Given the description of an element on the screen output the (x, y) to click on. 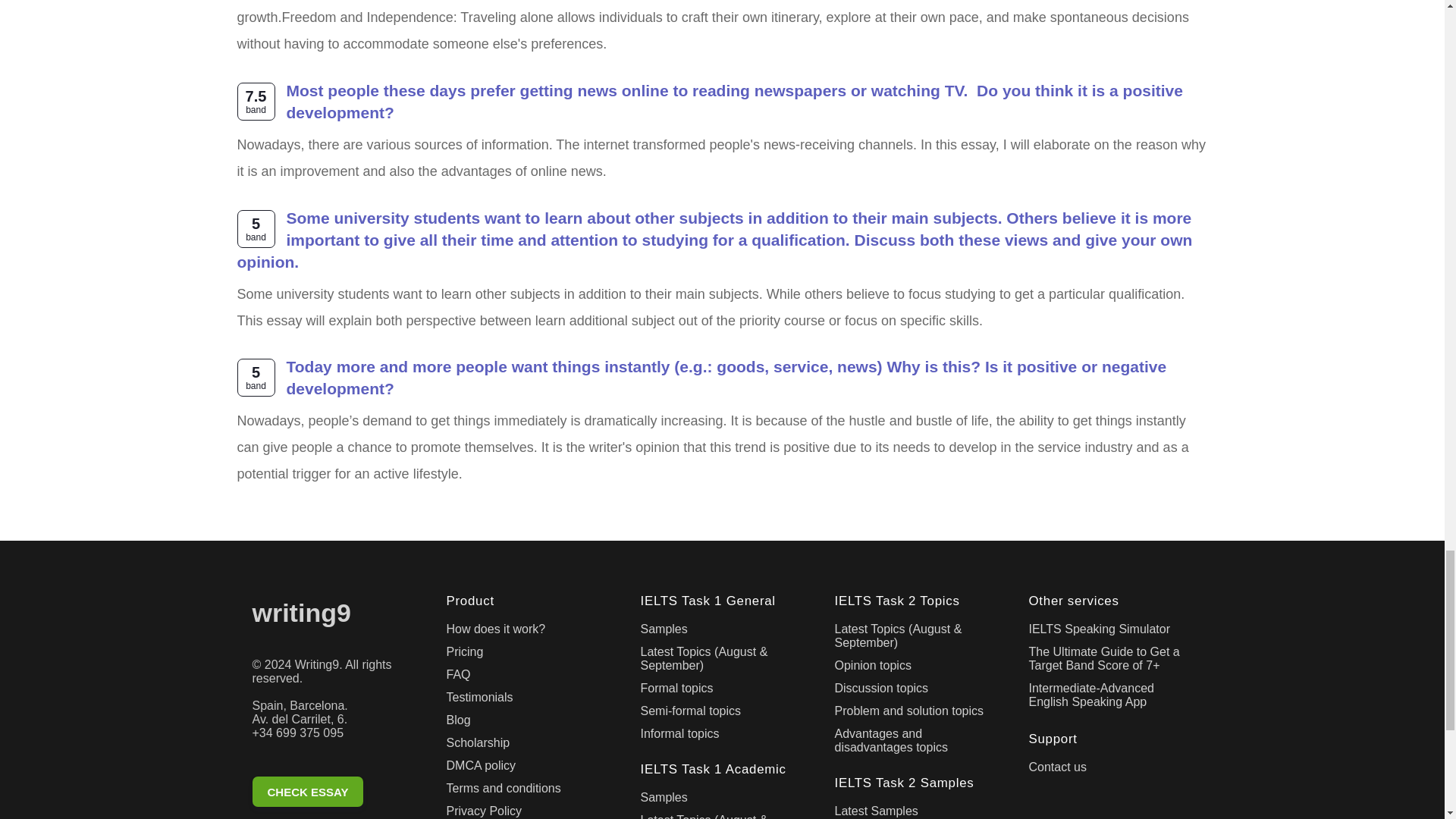
IELTS Task 1 General Latest Topics (721, 661)
CHECK ESSAY (306, 791)
IELTS Task 1 General Formal topics (721, 691)
IELTS Task 2 Opinion topics (915, 668)
FAQ (527, 677)
IELTS Task 2 Advantages and disadvantages topics (915, 743)
Testimonials (527, 700)
CHECK ESSAY (332, 794)
